Given the description of an element on the screen output the (x, y) to click on. 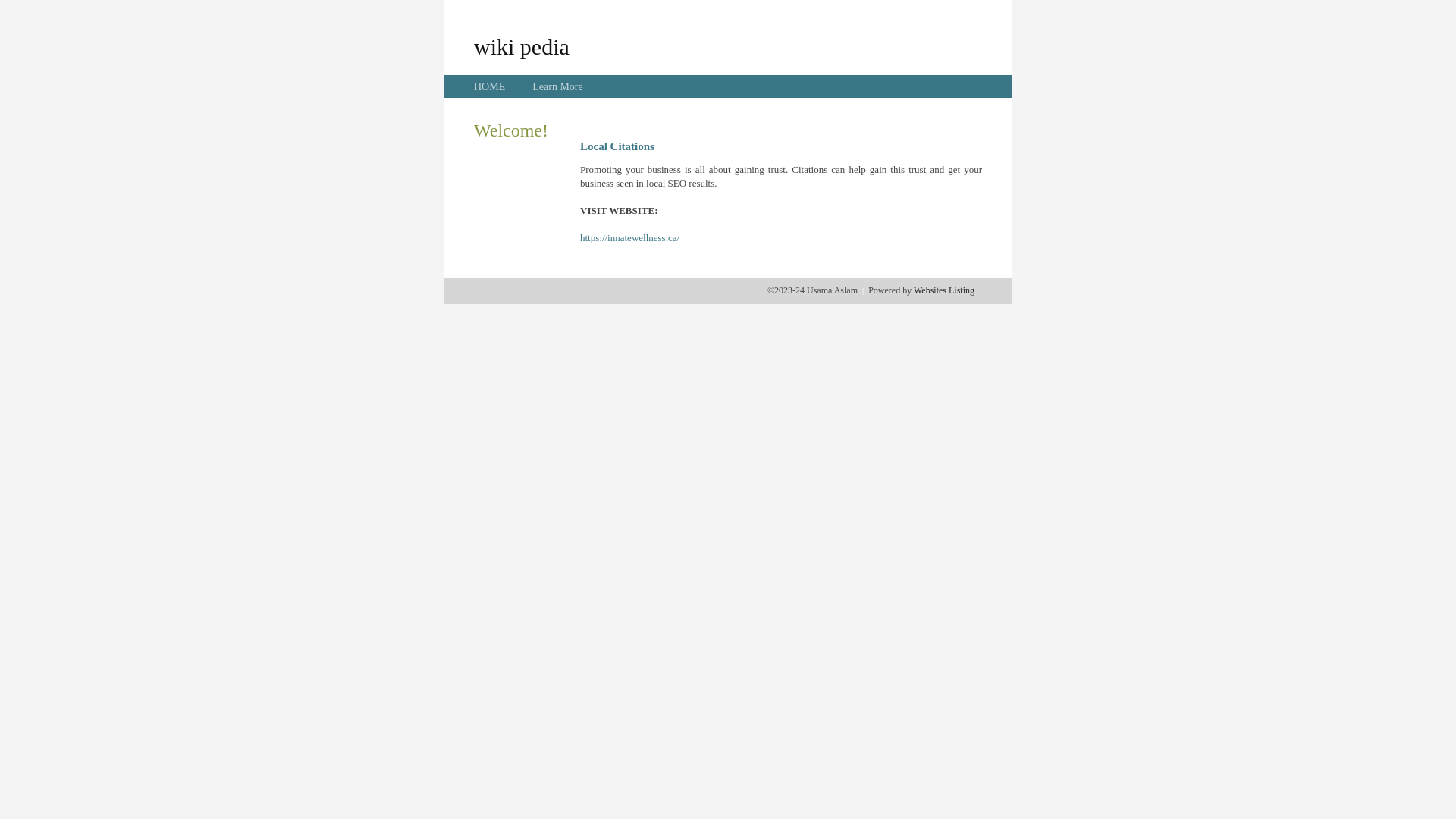
https://innatewellness.ca/ Element type: text (629, 237)
Websites Listing Element type: text (943, 290)
wiki pedia Element type: text (521, 46)
HOME Element type: text (489, 86)
Learn More Element type: text (557, 86)
